Given the description of an element on the screen output the (x, y) to click on. 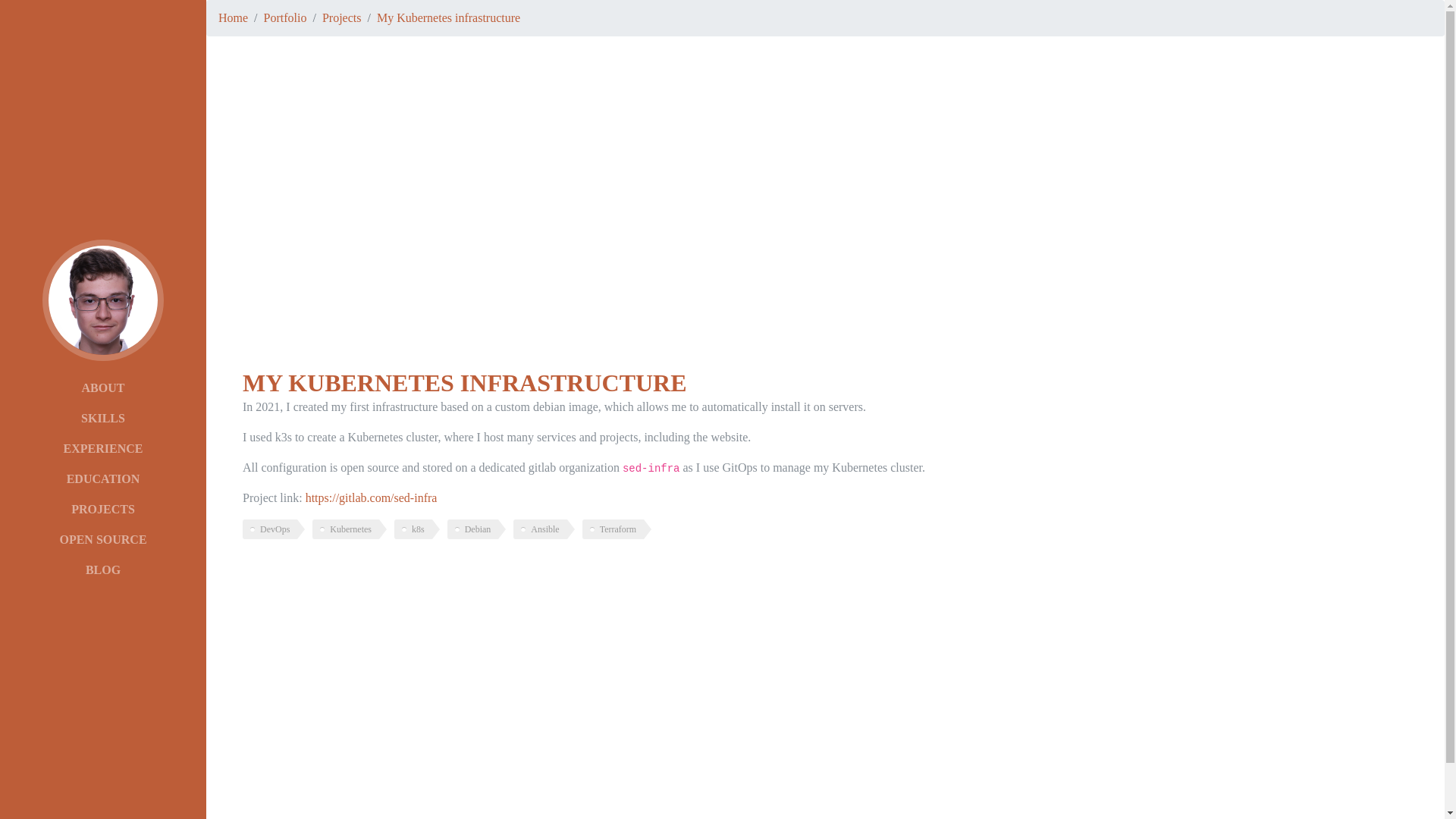
OPEN SOURCE Element type: text (103, 539)
Ansible Element type: text (543, 529)
BLOG Element type: text (103, 570)
EXPERIENCE Element type: text (103, 448)
Portfolio Element type: text (285, 18)
Projects Element type: text (341, 18)
https://gitlab.com/sed-infra Element type: text (371, 497)
PROJECTS Element type: text (103, 509)
DevOps Element type: text (273, 529)
EDUCATION Element type: text (103, 479)
Debian Element type: text (476, 529)
k8s Element type: text (416, 529)
Home Element type: text (232, 18)
My Kubernetes infrastructure Element type: text (448, 18)
SKILLS Element type: text (103, 418)
Terraform Element type: text (616, 529)
Kubernetes Element type: text (349, 529)
ABOUT Element type: text (103, 388)
